Given the description of an element on the screen output the (x, y) to click on. 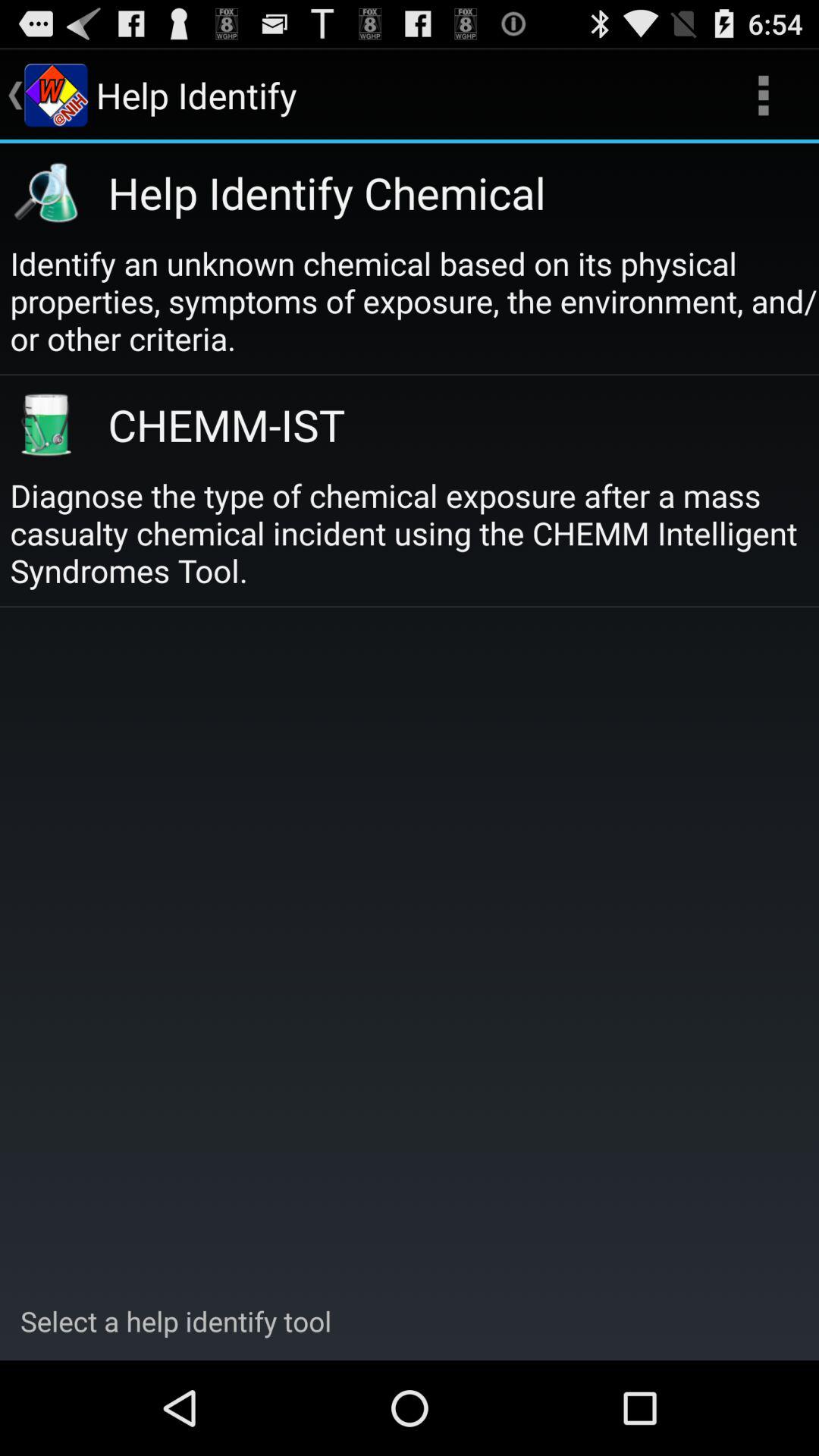
swipe to the identify an unknown (414, 300)
